Given the description of an element on the screen output the (x, y) to click on. 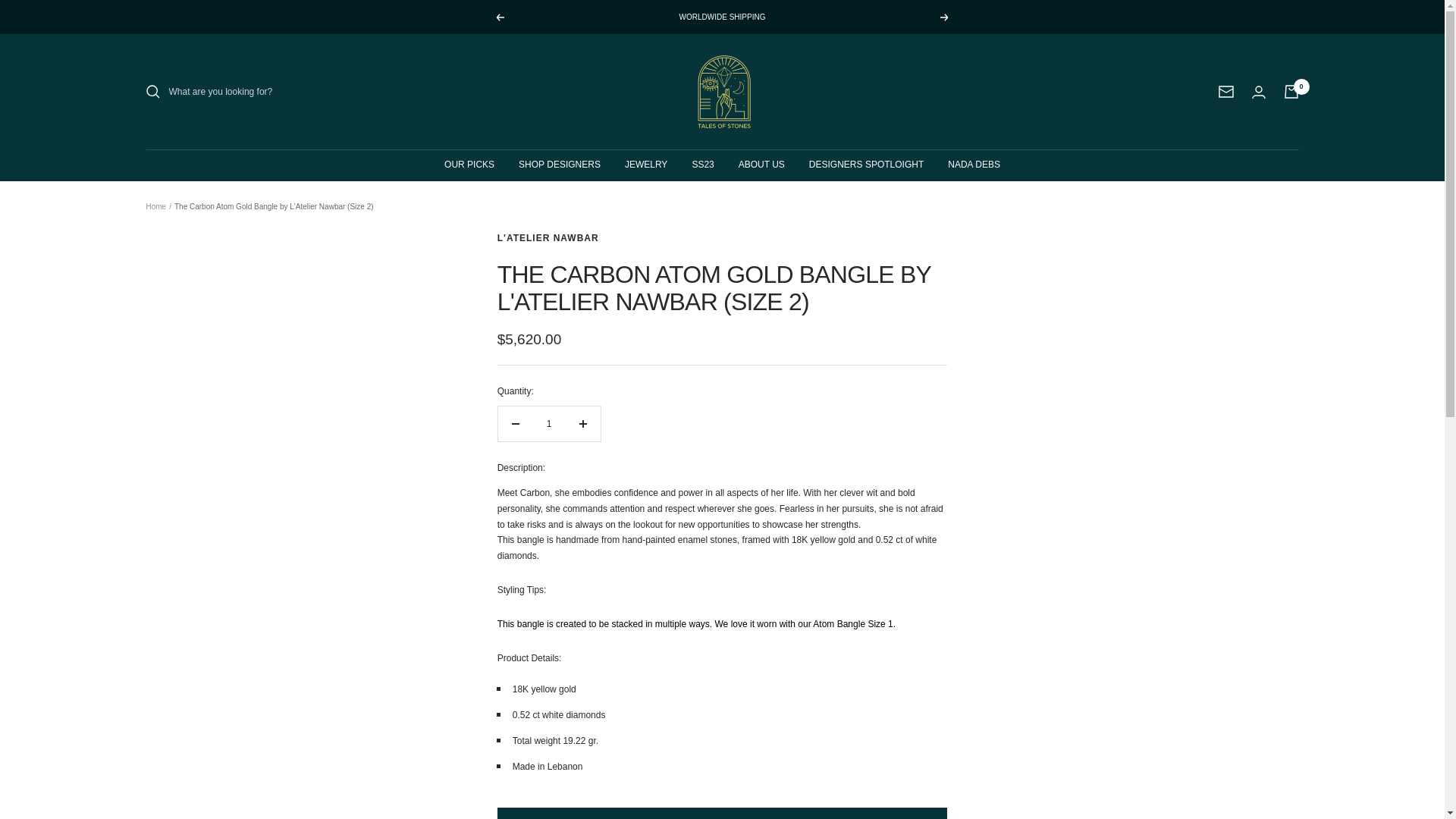
DESIGNERS SPOTLOIGHT (866, 164)
SHOP DESIGNERS (558, 164)
1 (549, 423)
L'ATELIER NAWBAR (547, 237)
ADD TO CART (722, 813)
SS23 (702, 164)
0 (1290, 91)
Next (944, 17)
NADA DEBS (973, 164)
Tales of Stones (722, 91)
ABOUT US (761, 164)
Previous (499, 17)
Decrease quantity (514, 423)
Increase quantity (582, 423)
OUR PICKS (469, 164)
